Given the description of an element on the screen output the (x, y) to click on. 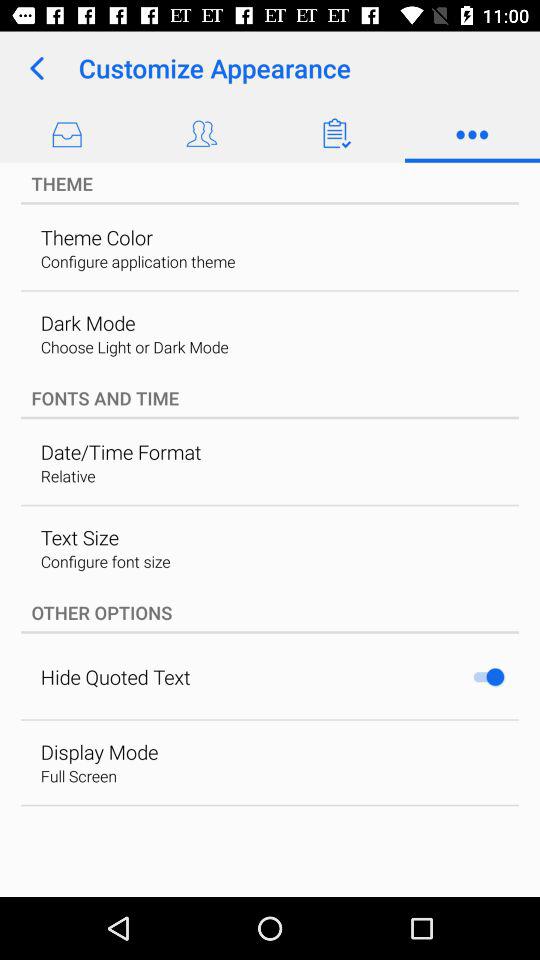
select the third icon from right from customize appearance (337, 133)
